Given the description of an element on the screen output the (x, y) to click on. 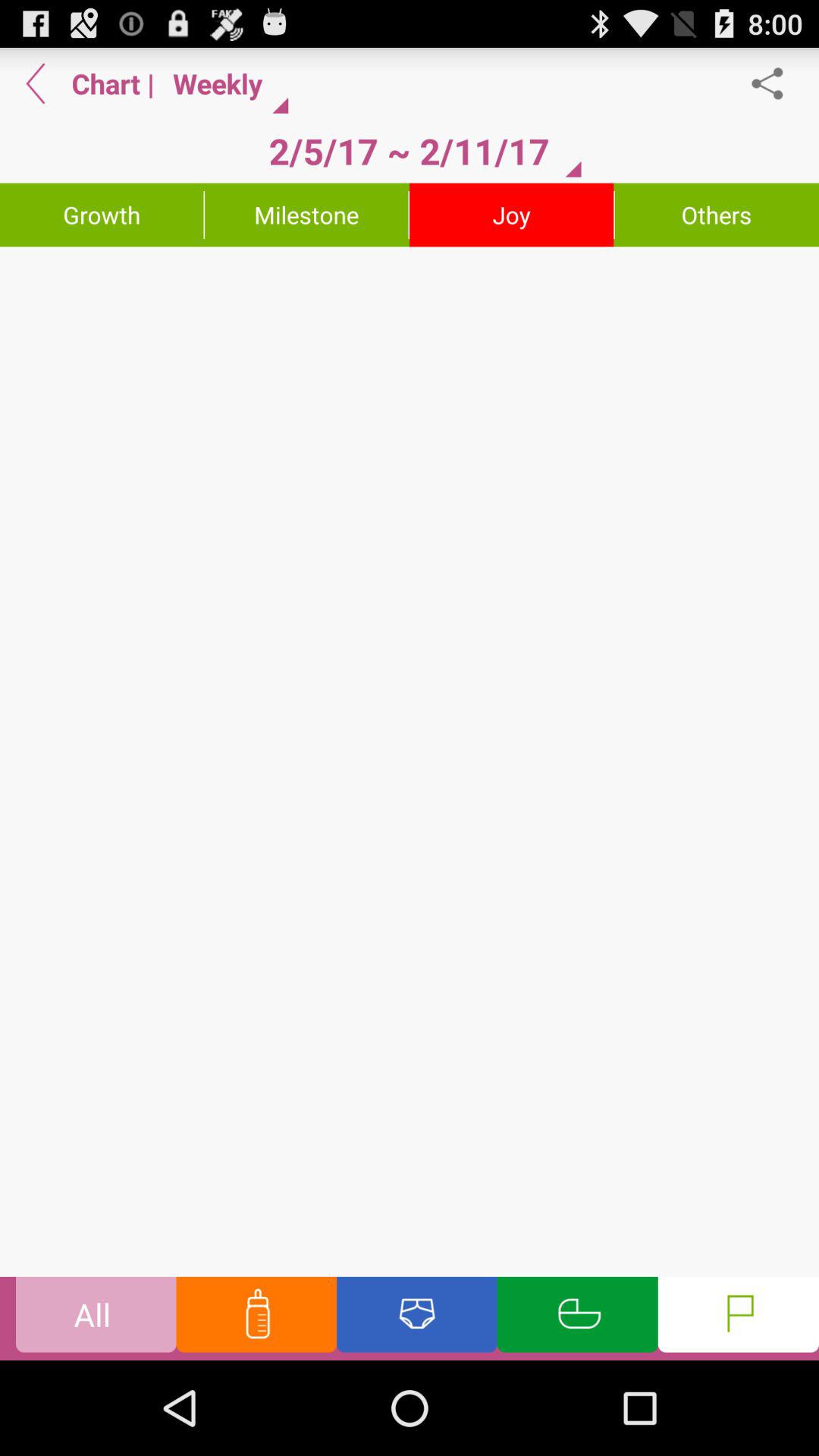
open all (95, 1318)
